Given the description of an element on the screen output the (x, y) to click on. 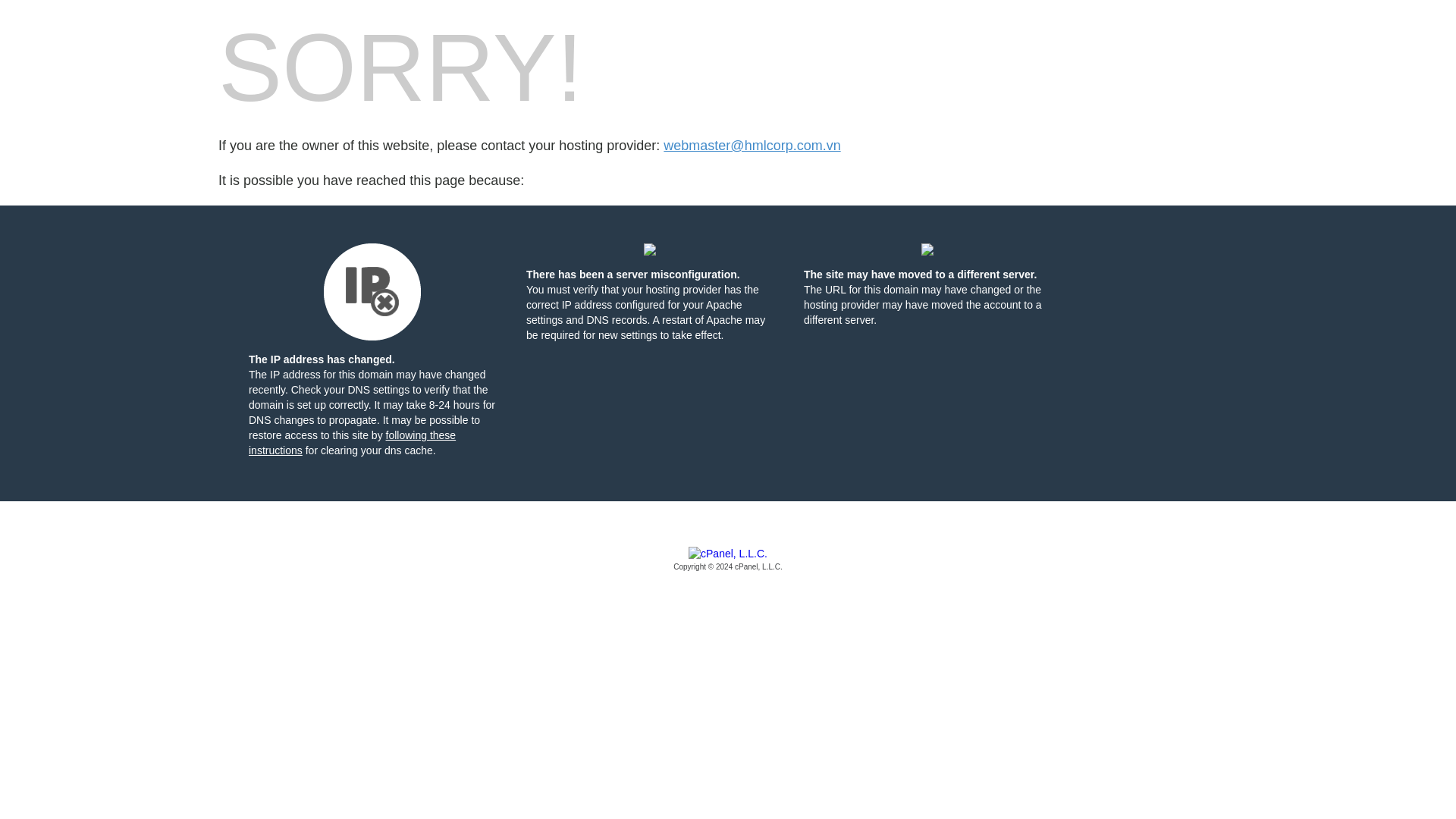
cPanel, L.L.C. (727, 559)
Click this link to contact the host (751, 145)
following these instructions (351, 442)
